Given the description of an element on the screen output the (x, y) to click on. 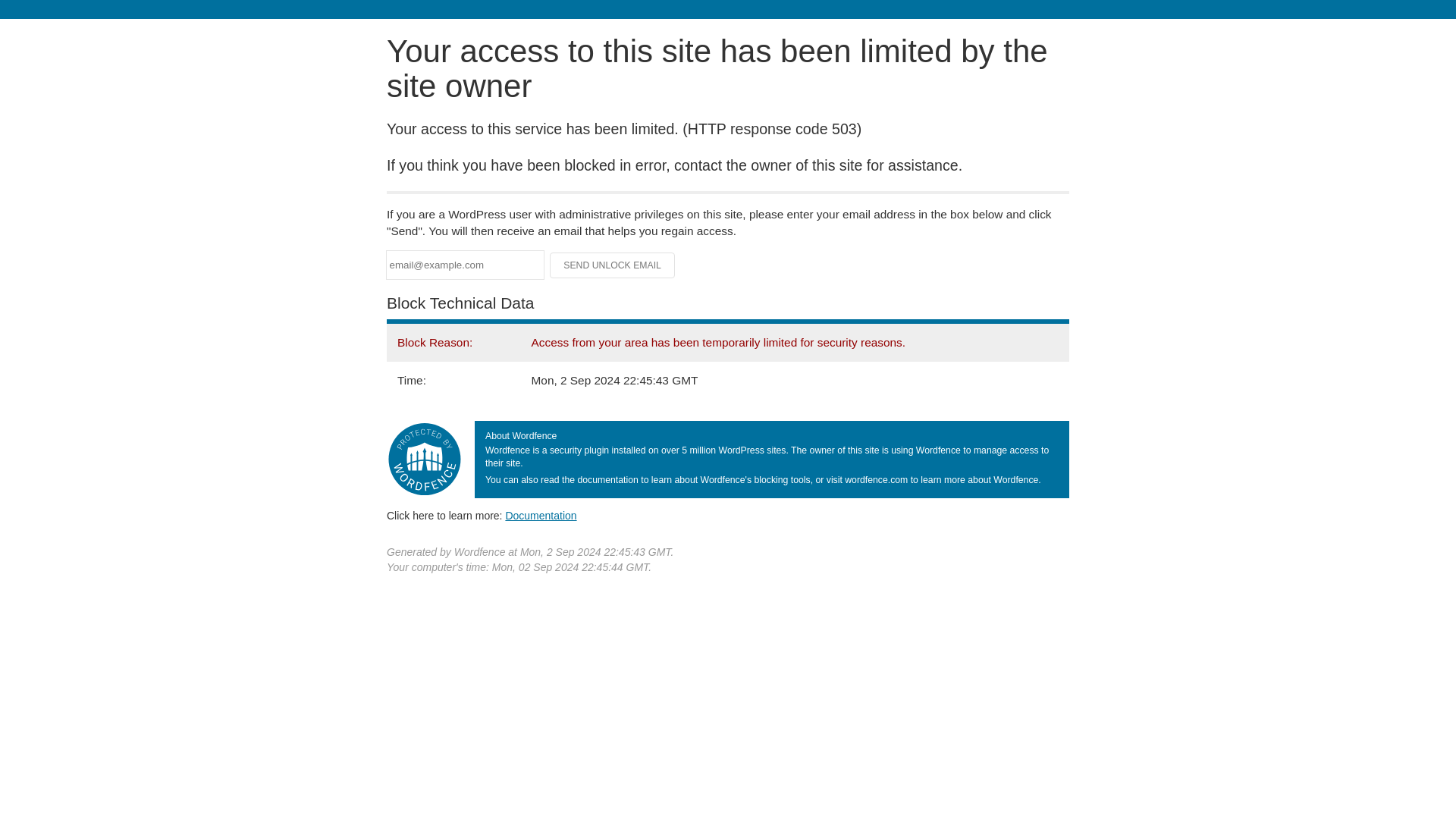
Send Unlock Email (612, 265)
Documentation (540, 515)
Send Unlock Email (612, 265)
